Given the description of an element on the screen output the (x, y) to click on. 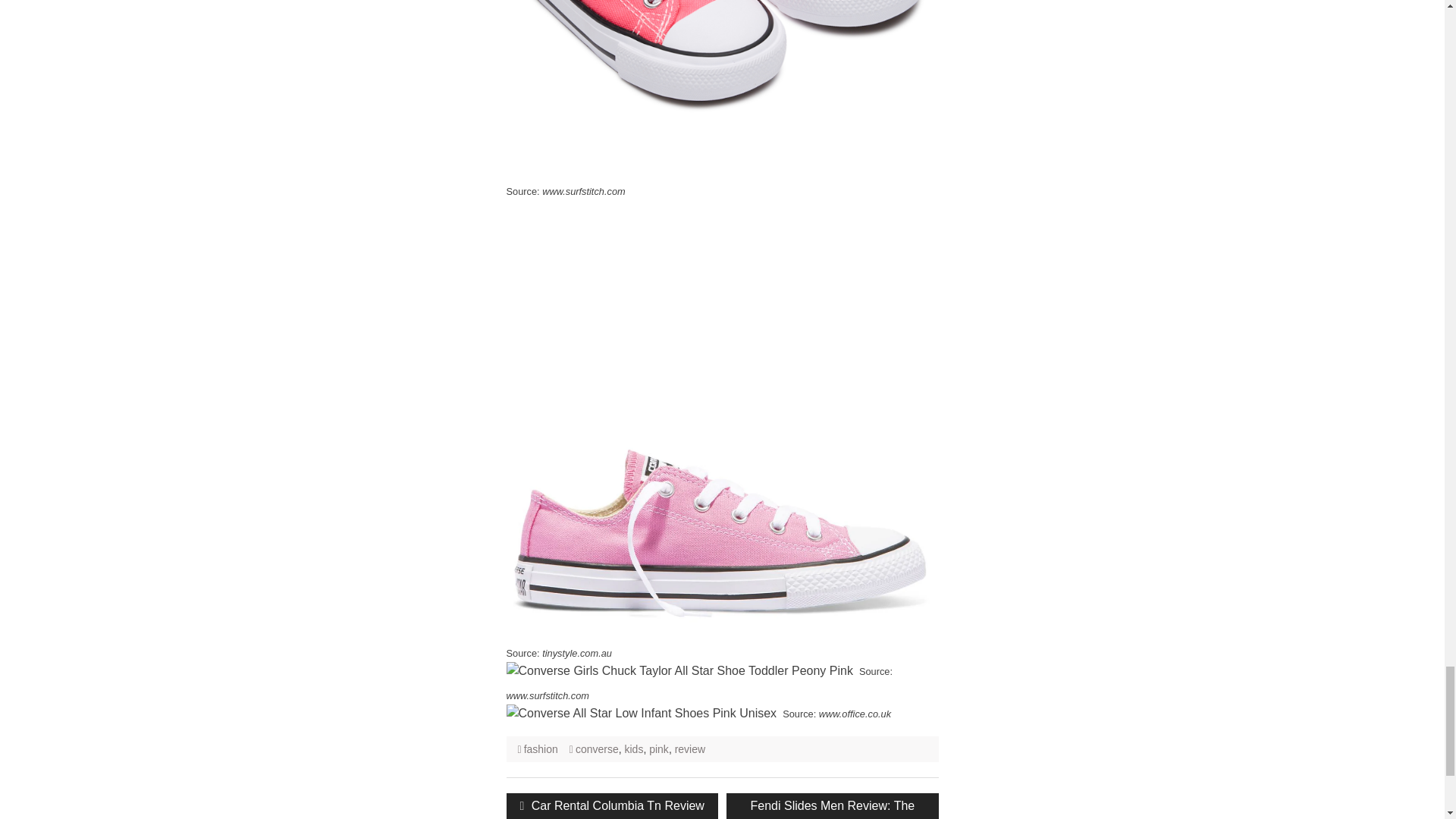
review (689, 748)
fashion (540, 748)
pink (658, 748)
kids (633, 748)
converse (596, 748)
